Given the description of an element on the screen output the (x, y) to click on. 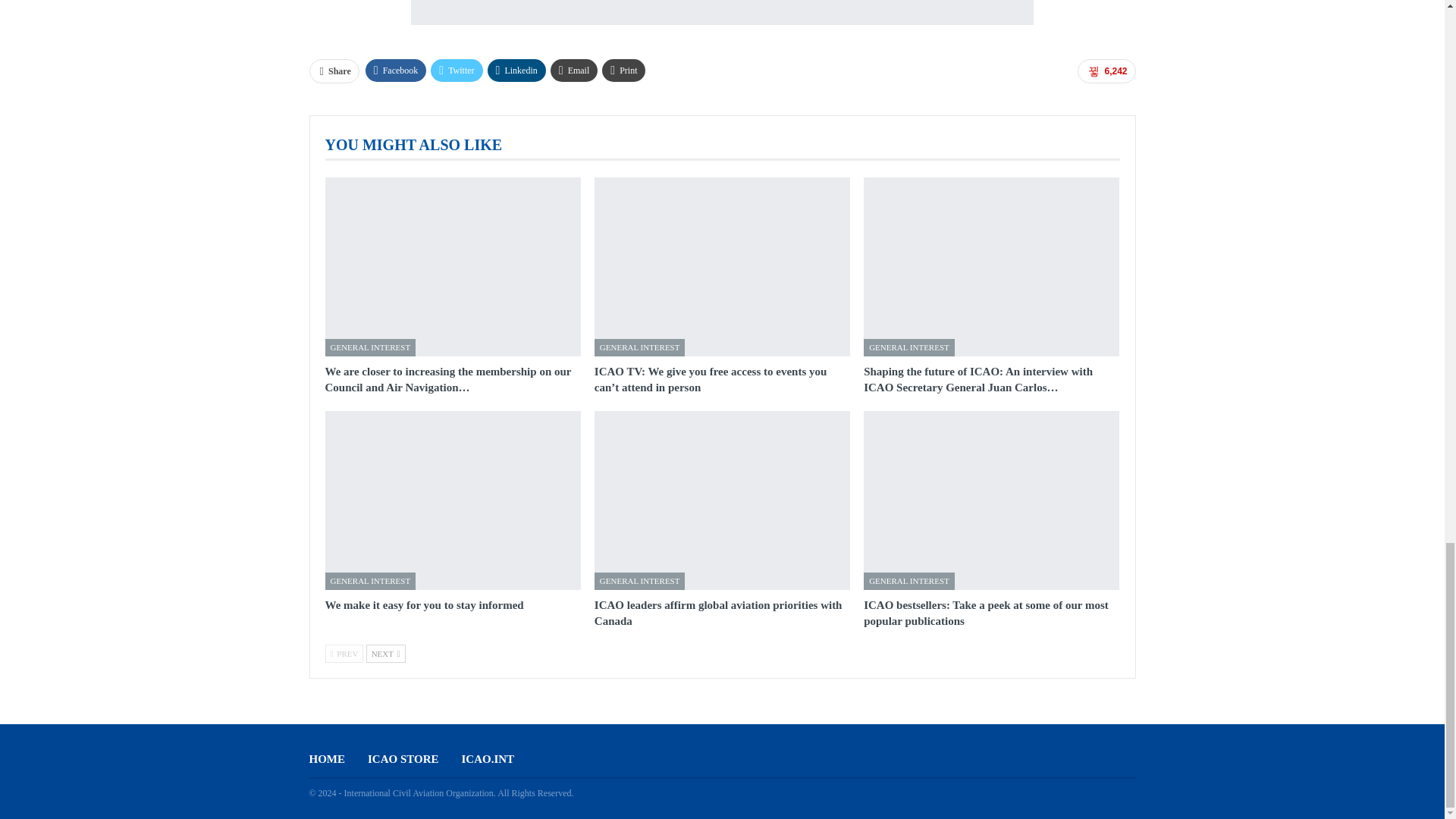
Print (623, 69)
We make it easy for you to stay informed (423, 604)
Twitter (455, 69)
Previous (343, 653)
Email (574, 69)
ICAO leaders affirm global aviation priorities with Canada (718, 612)
Linkedin (516, 69)
ICAO leaders affirm global aviation priorities with Canada (722, 500)
